Given the description of an element on the screen output the (x, y) to click on. 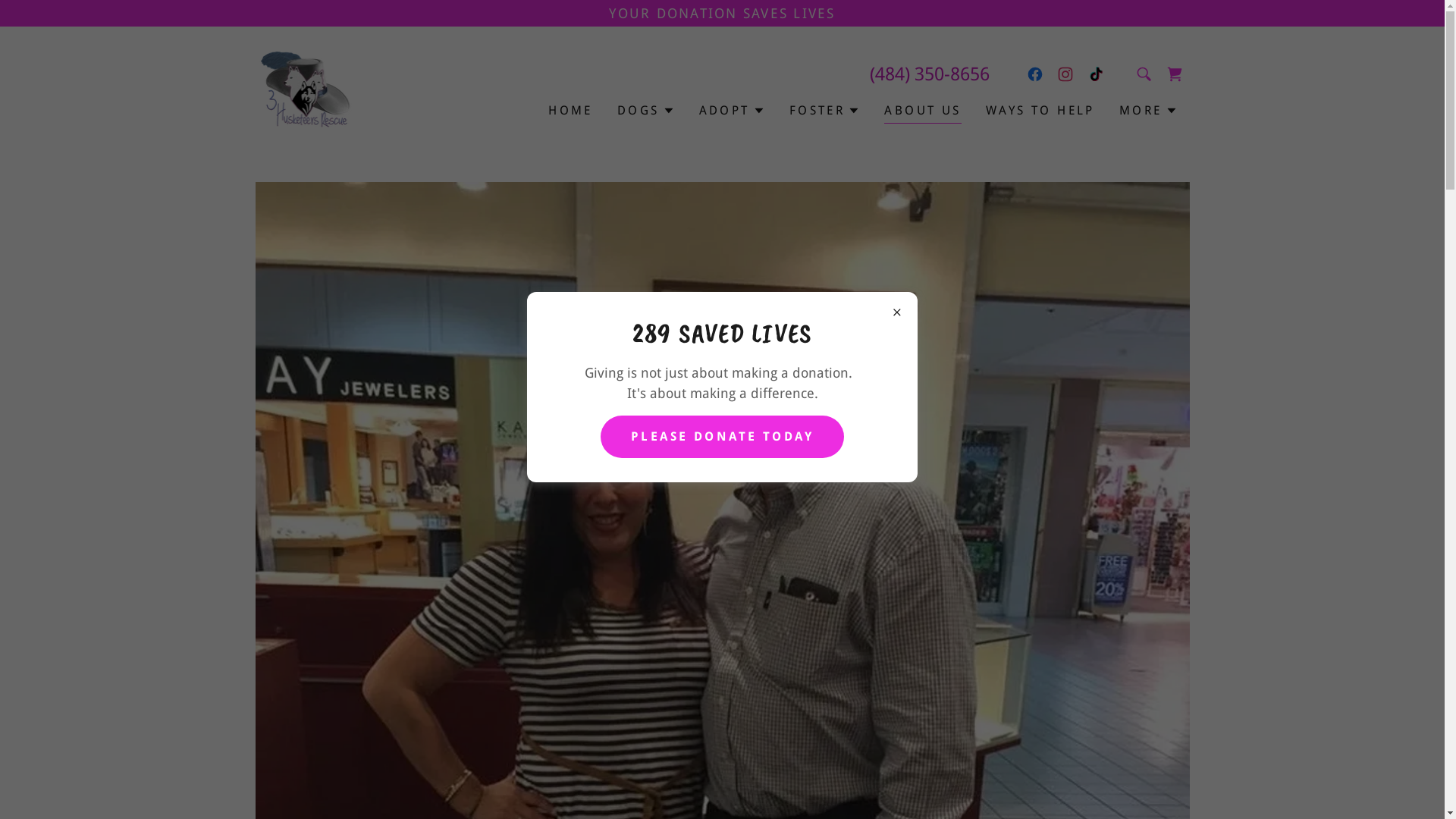
DOGS Element type: text (645, 110)
(484) 350-8656 Element type: text (928, 73)
YOUR DONATION SAVES LIVES Element type: text (722, 13)
ADOPT Element type: text (732, 110)
3 Husketeers Rescue Element type: hover (304, 87)
MORE Element type: text (1148, 110)
PLEASE DONATE TODAY Element type: text (722, 436)
FOSTER Element type: text (824, 110)
ABOUT US Element type: text (922, 112)
HOME Element type: text (570, 110)
WAYS TO HELP Element type: text (1040, 110)
